Given the description of an element on the screen output the (x, y) to click on. 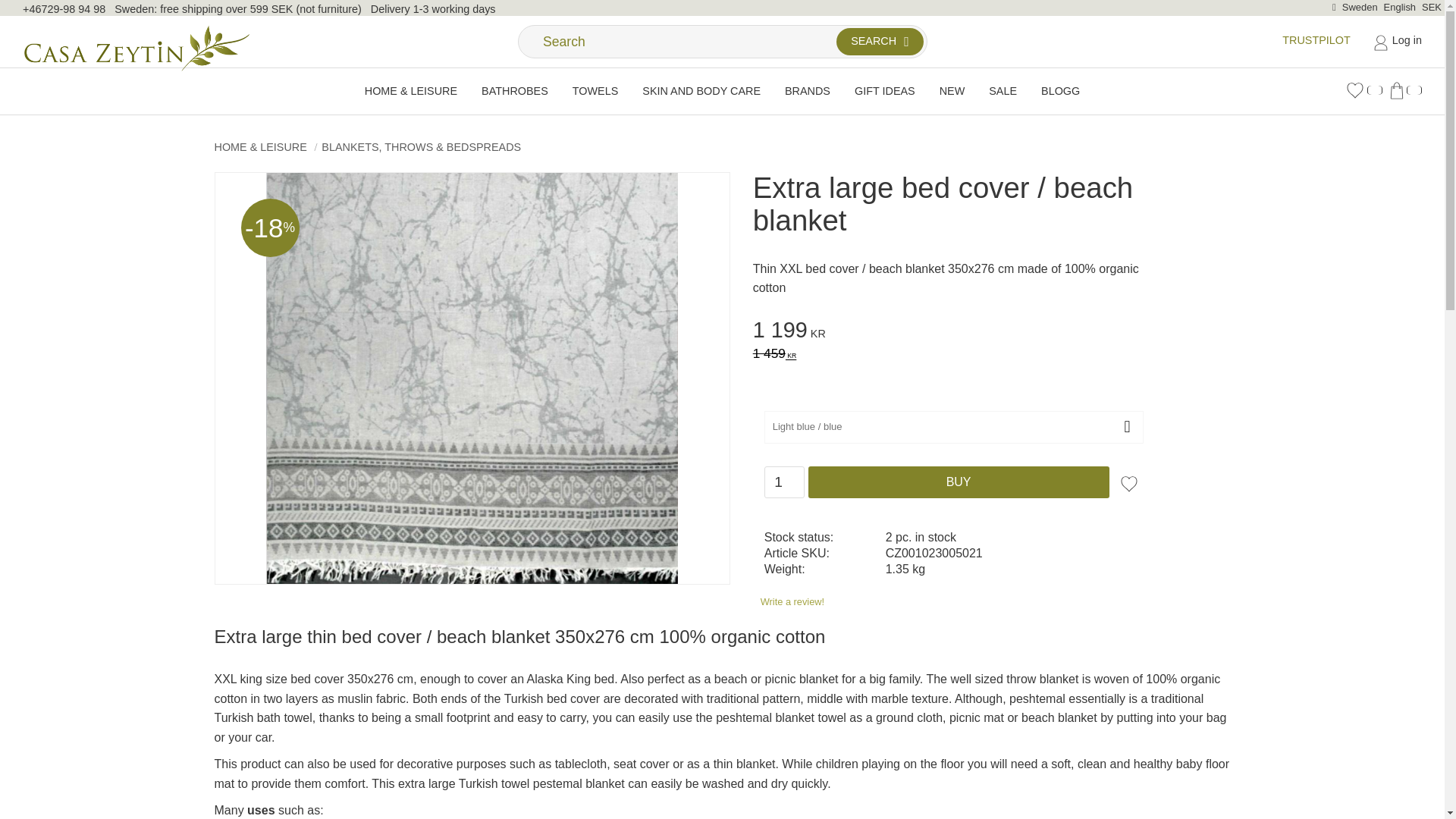
1 (784, 481)
TRUSTPILOT (1316, 39)
Delivery 1-3 working days (433, 9)
Log in (1397, 40)
SEARCH (879, 40)
